Given the description of an element on the screen output the (x, y) to click on. 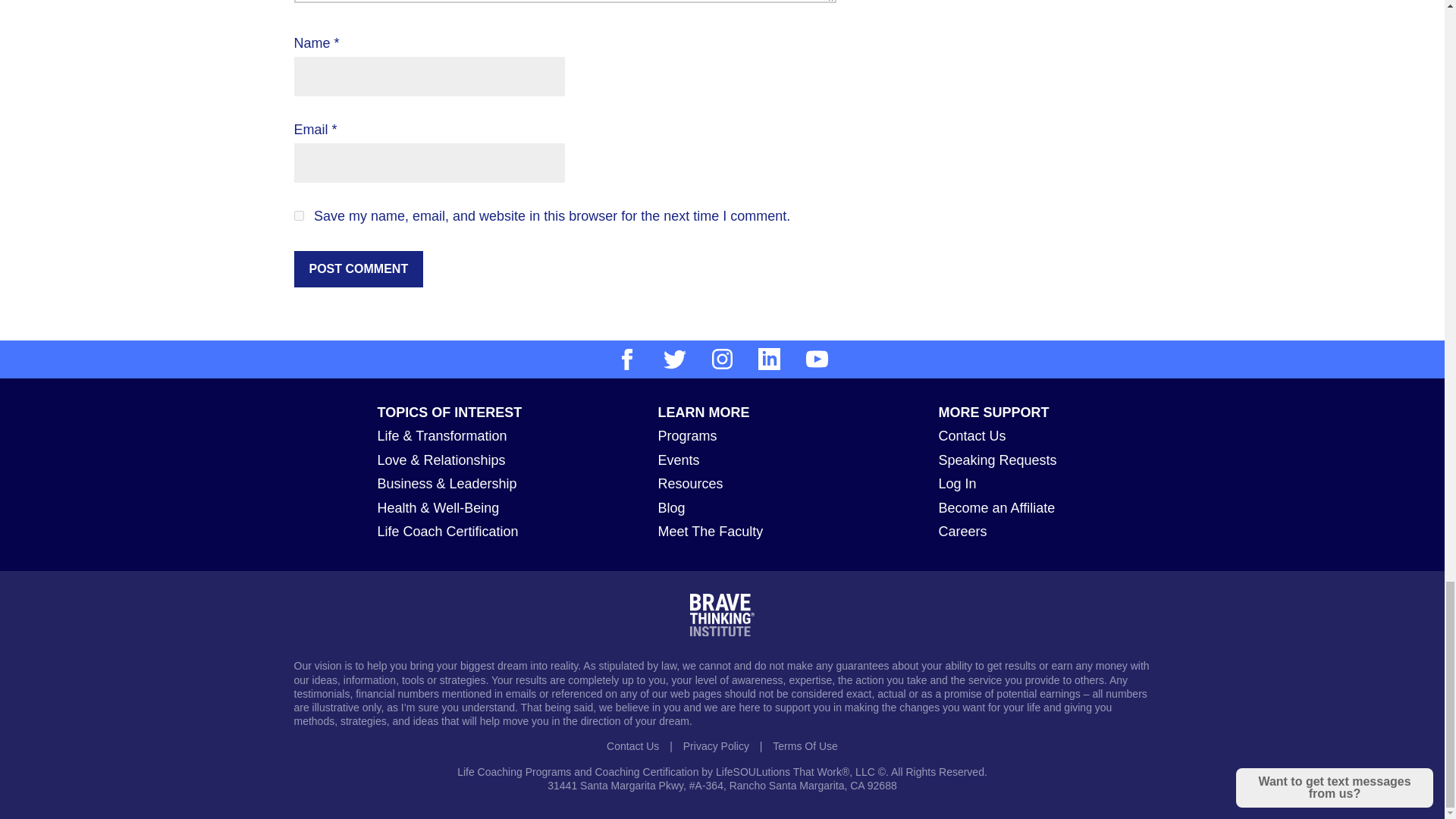
Find us on YouTube (817, 359)
Find us on Instagram (721, 358)
yes (299, 215)
Find us on Twitter (674, 359)
Find us on Facebook (626, 359)
Post Comment (358, 268)
Find us on LinkedIn (769, 359)
